Given the description of an element on the screen output the (x, y) to click on. 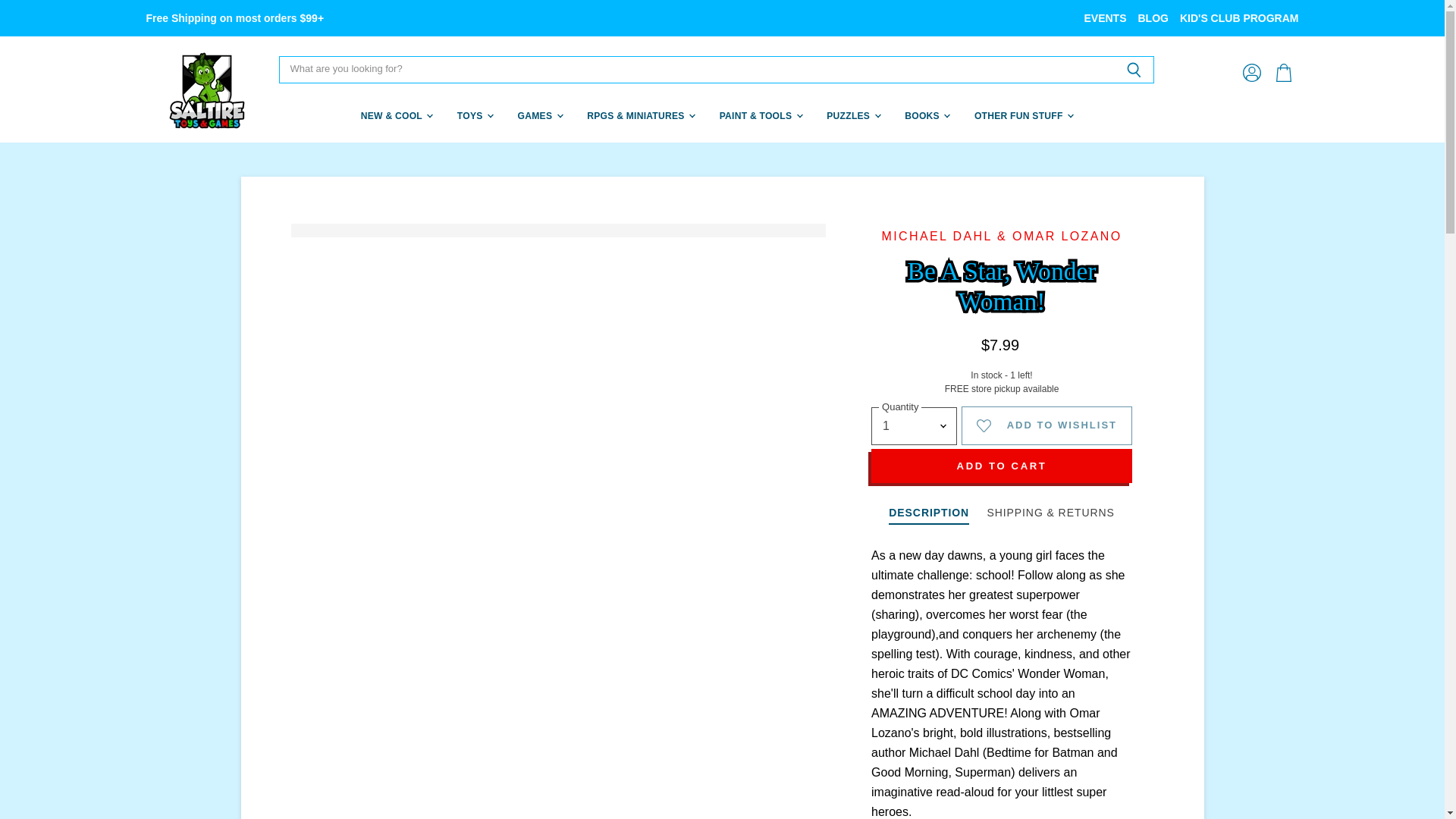
KID'S CLUB PROGRAM (1238, 18)
EVENTS (1104, 18)
TOYS (473, 115)
BLOG (1152, 18)
View account (1251, 73)
